Given the description of an element on the screen output the (x, y) to click on. 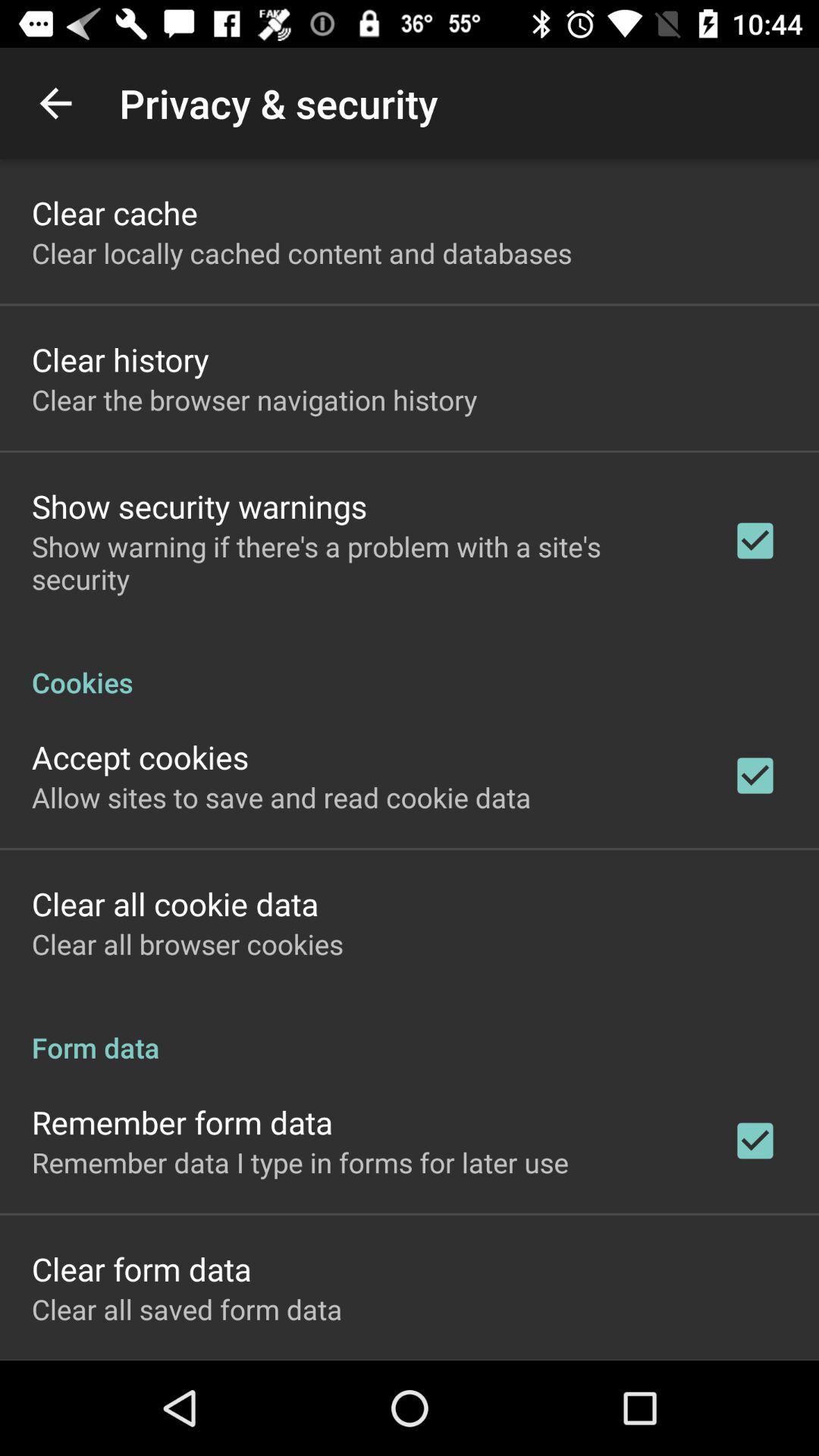
choose the item below show security warnings icon (361, 562)
